Given the description of an element on the screen output the (x, y) to click on. 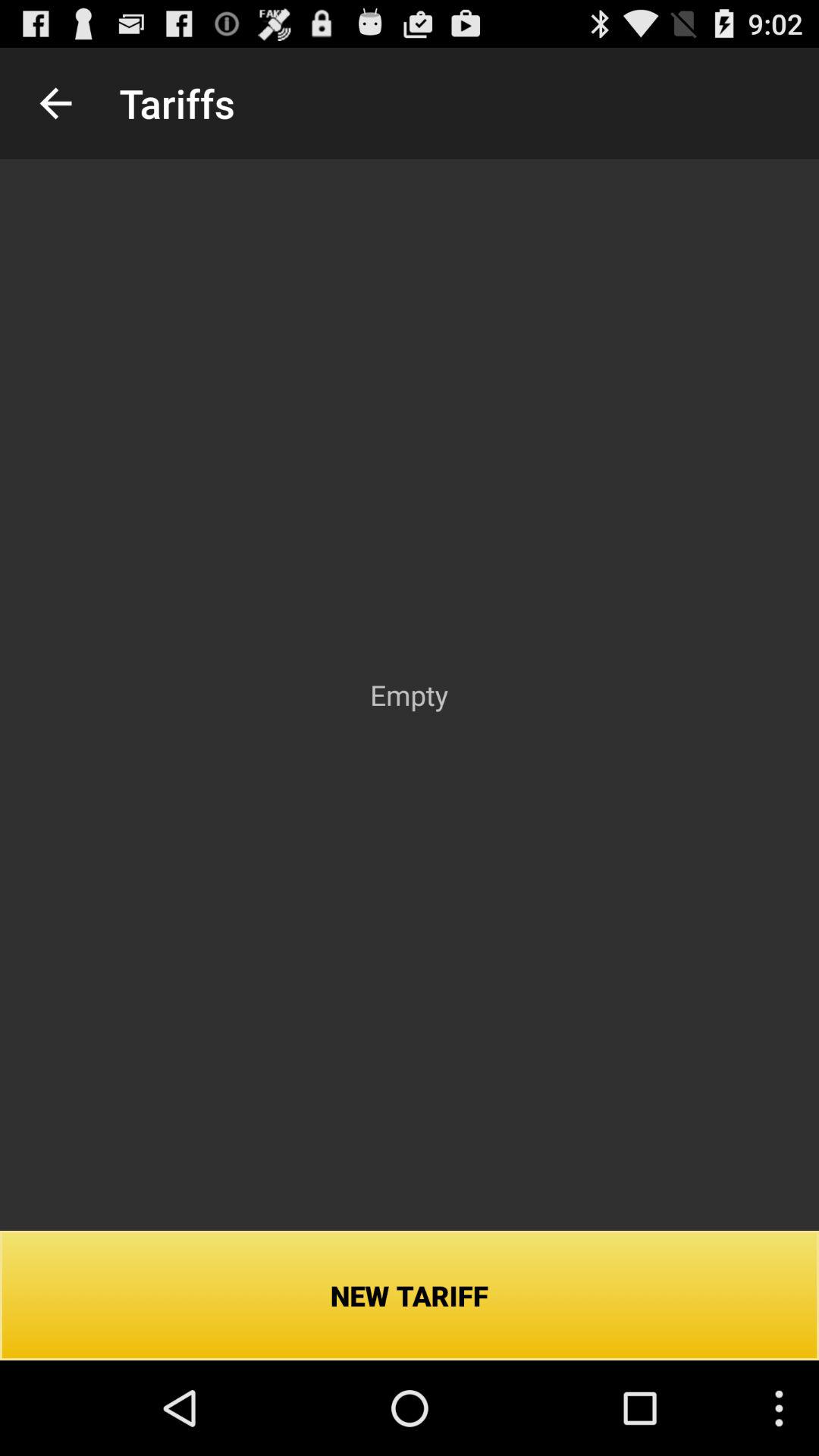
select the icon above new tariff icon (55, 103)
